Given the description of an element on the screen output the (x, y) to click on. 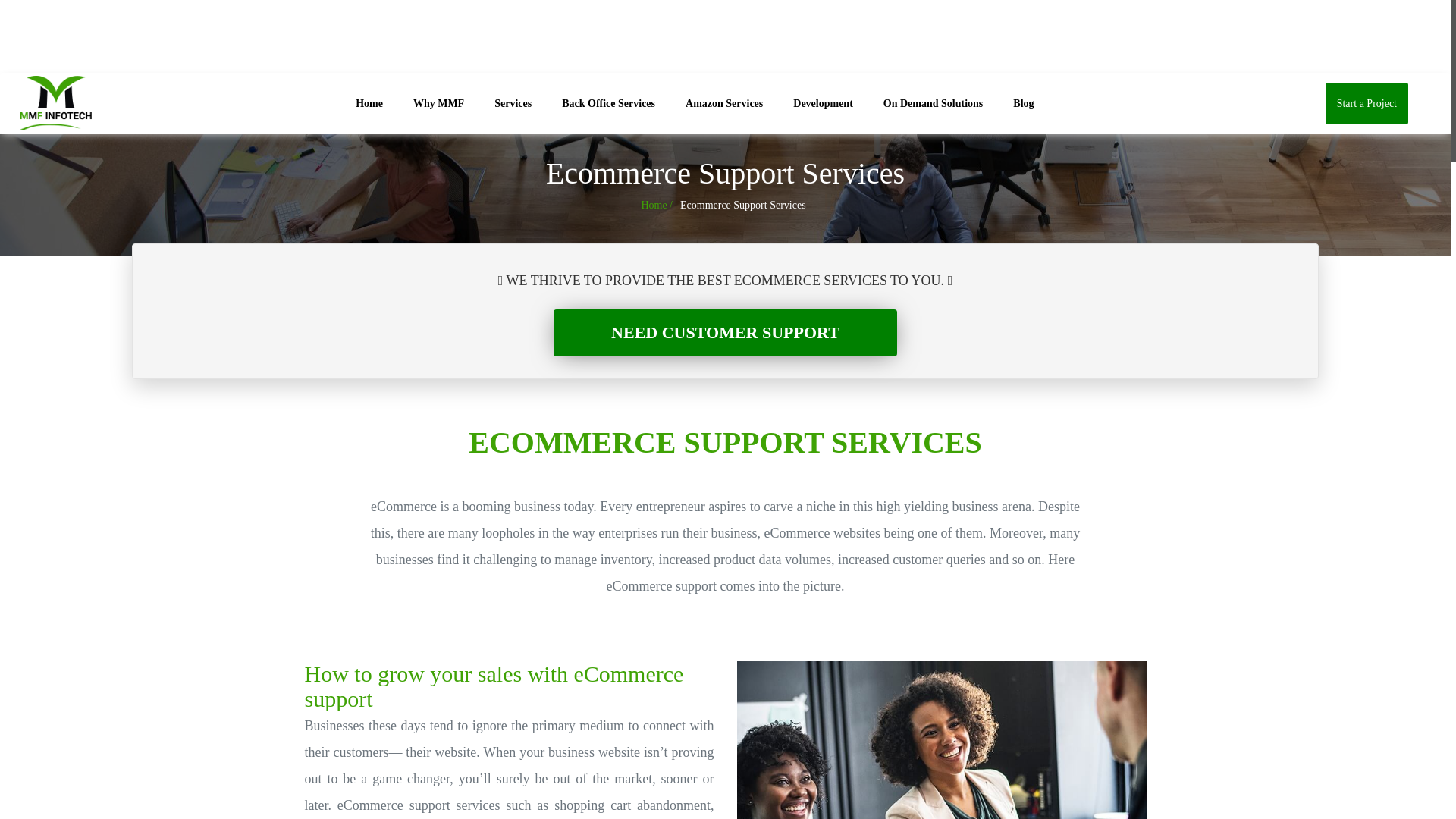
Amazon Services (724, 102)
Development (823, 102)
Back Office Services (608, 102)
Why MMF (438, 102)
